Given the description of an element on the screen output the (x, y) to click on. 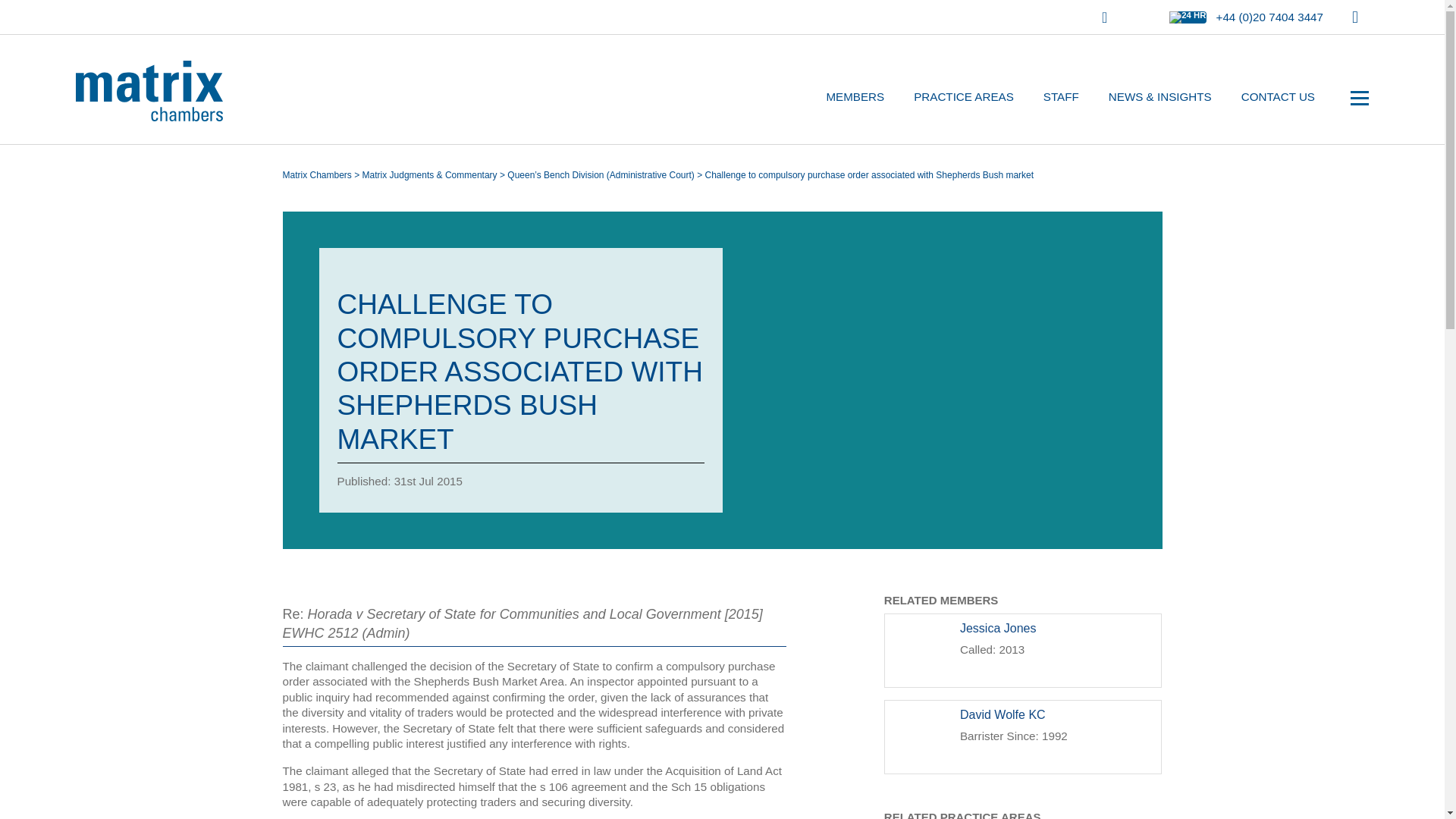
CONTACT US (1277, 97)
Go to Matrix Chambers. (316, 174)
MEMBERS (854, 97)
STAFF (1061, 97)
PRACTICE AREAS (963, 97)
